Given the description of an element on the screen output the (x, y) to click on. 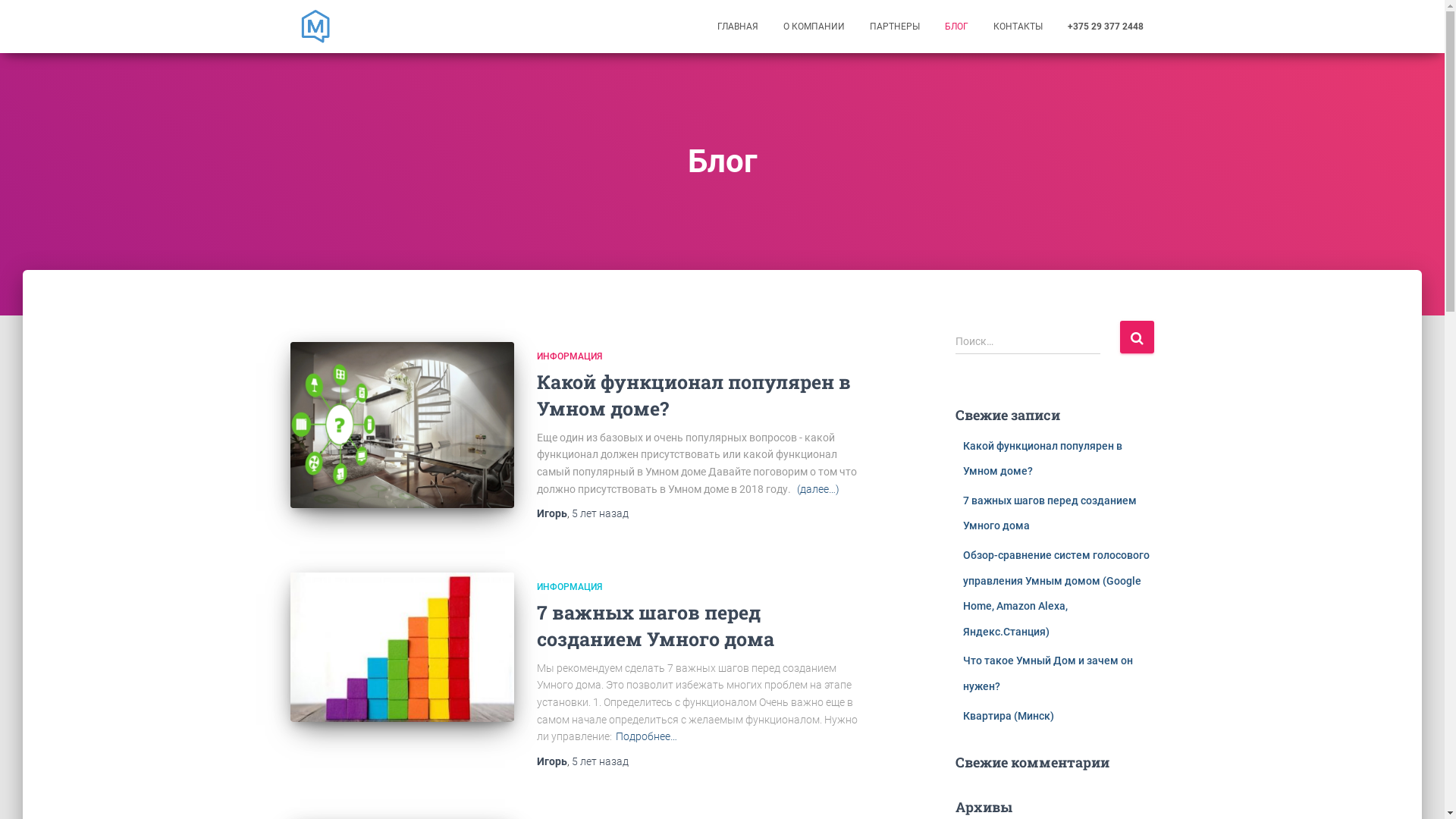
MajorDoMo.by Element type: hover (314, 26)
+375 29 377 2448 Element type: text (1104, 26)
